Given the description of an element on the screen output the (x, y) to click on. 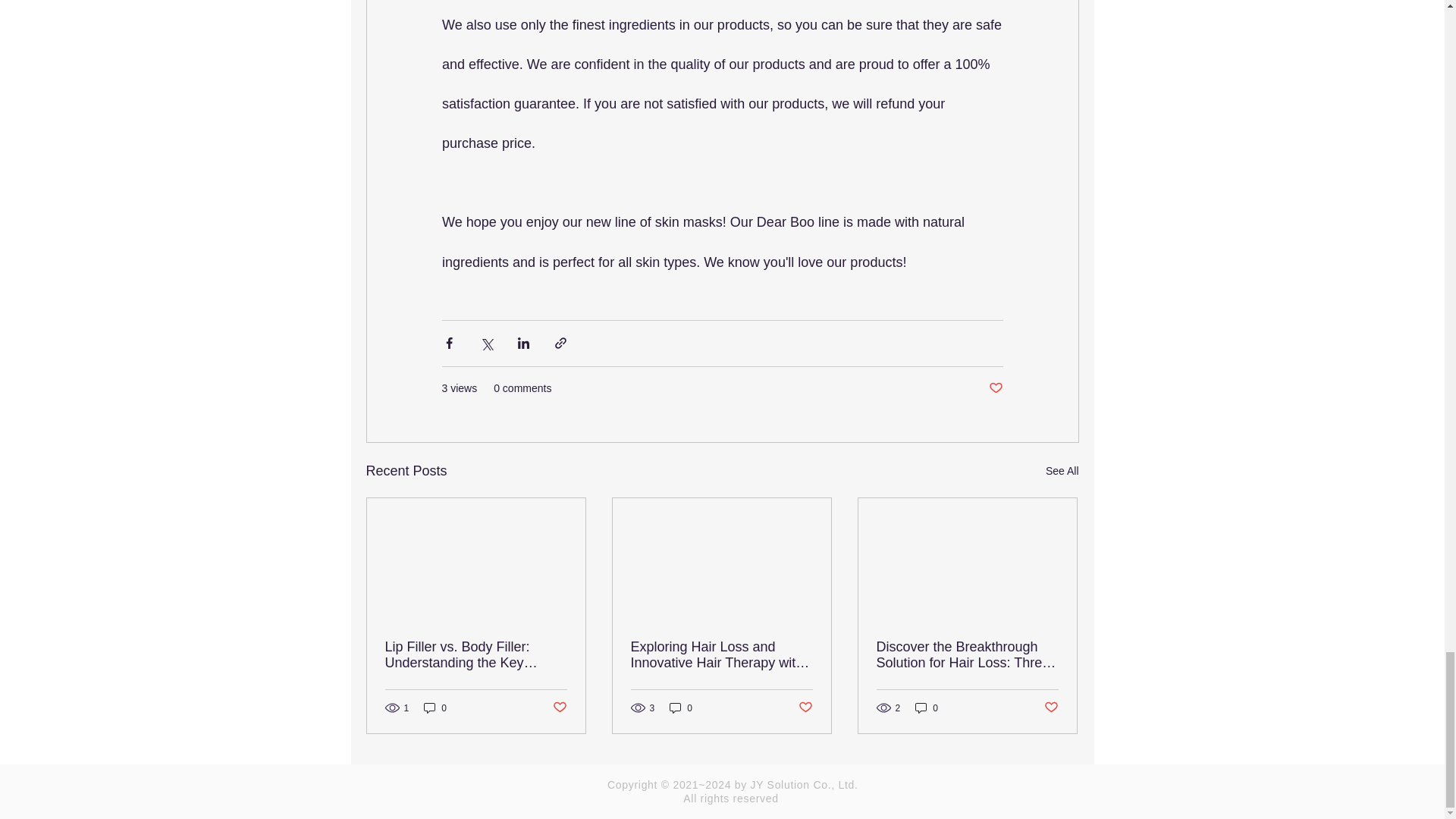
Post not marked as liked (558, 707)
0 (435, 707)
See All (1061, 471)
Post not marked as liked (995, 388)
